Given the description of an element on the screen output the (x, y) to click on. 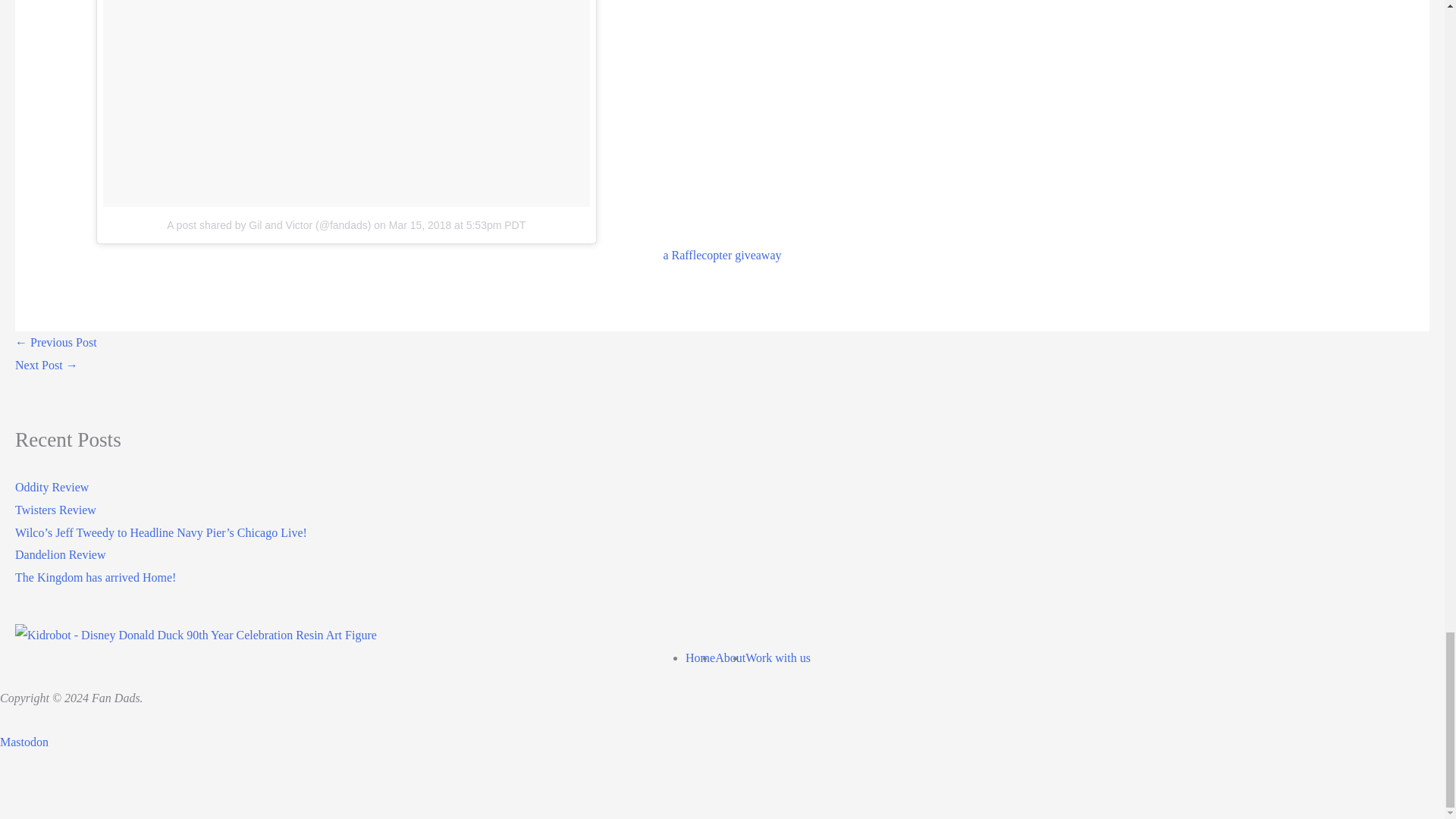
Getting Ready for Ready Player One (55, 341)
A New Solo: A Star Wars Story Trailer has been released (46, 364)
